Given the description of an element on the screen output the (x, y) to click on. 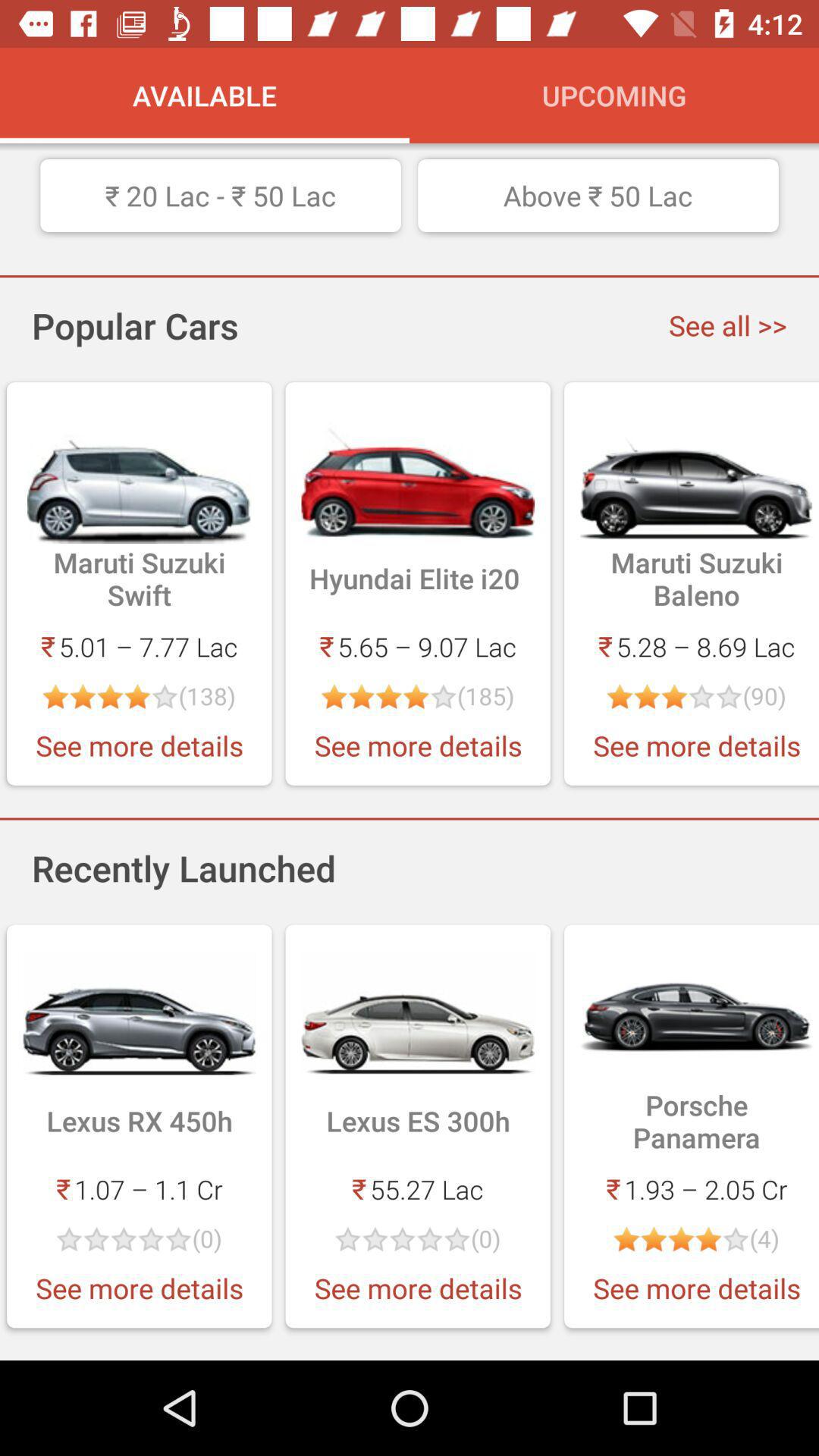
scroll to the upcoming (614, 95)
